Given the description of an element on the screen output the (x, y) to click on. 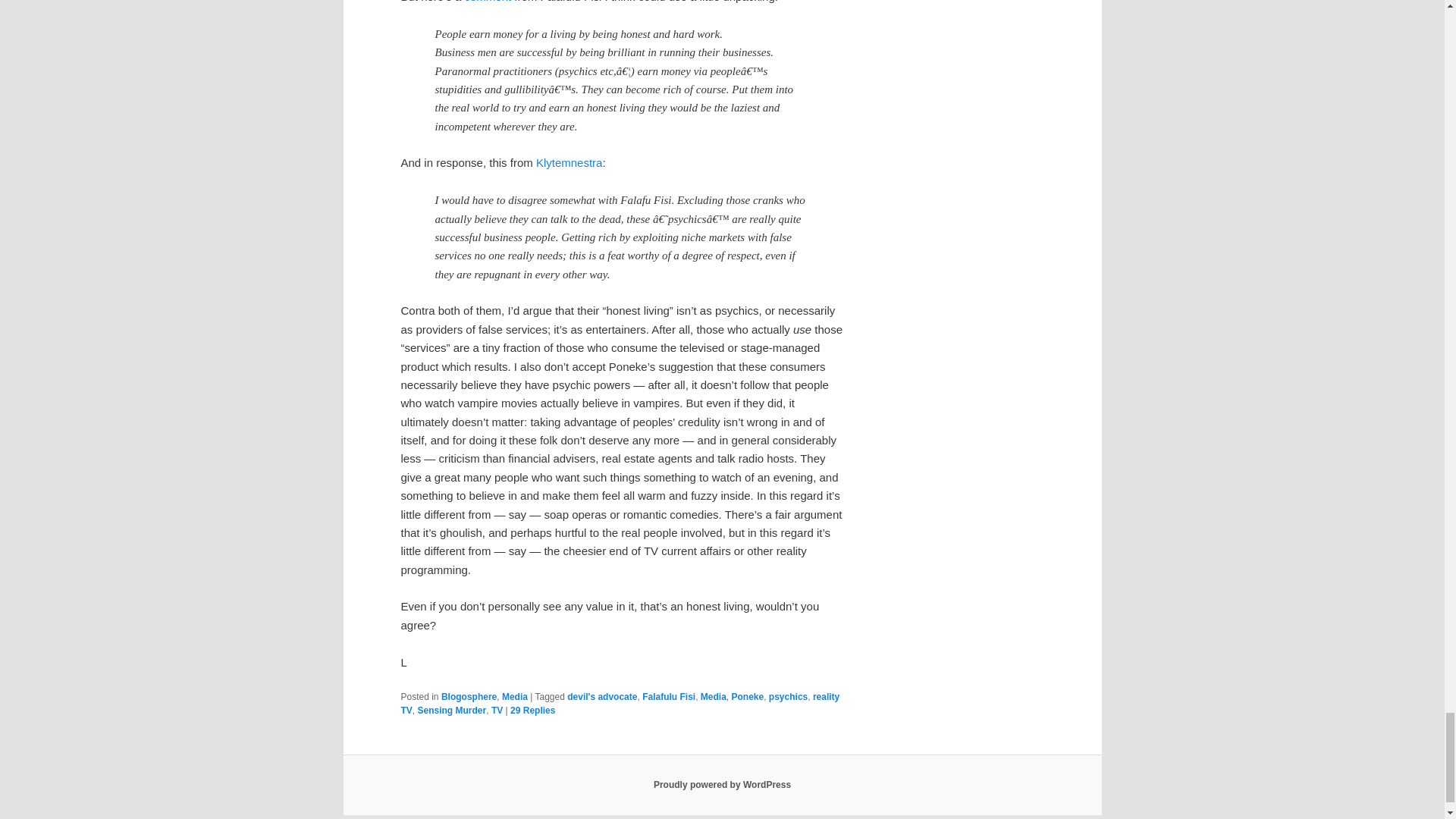
Semantic Personal Publishing Platform (721, 784)
